Given the description of an element on the screen output the (x, y) to click on. 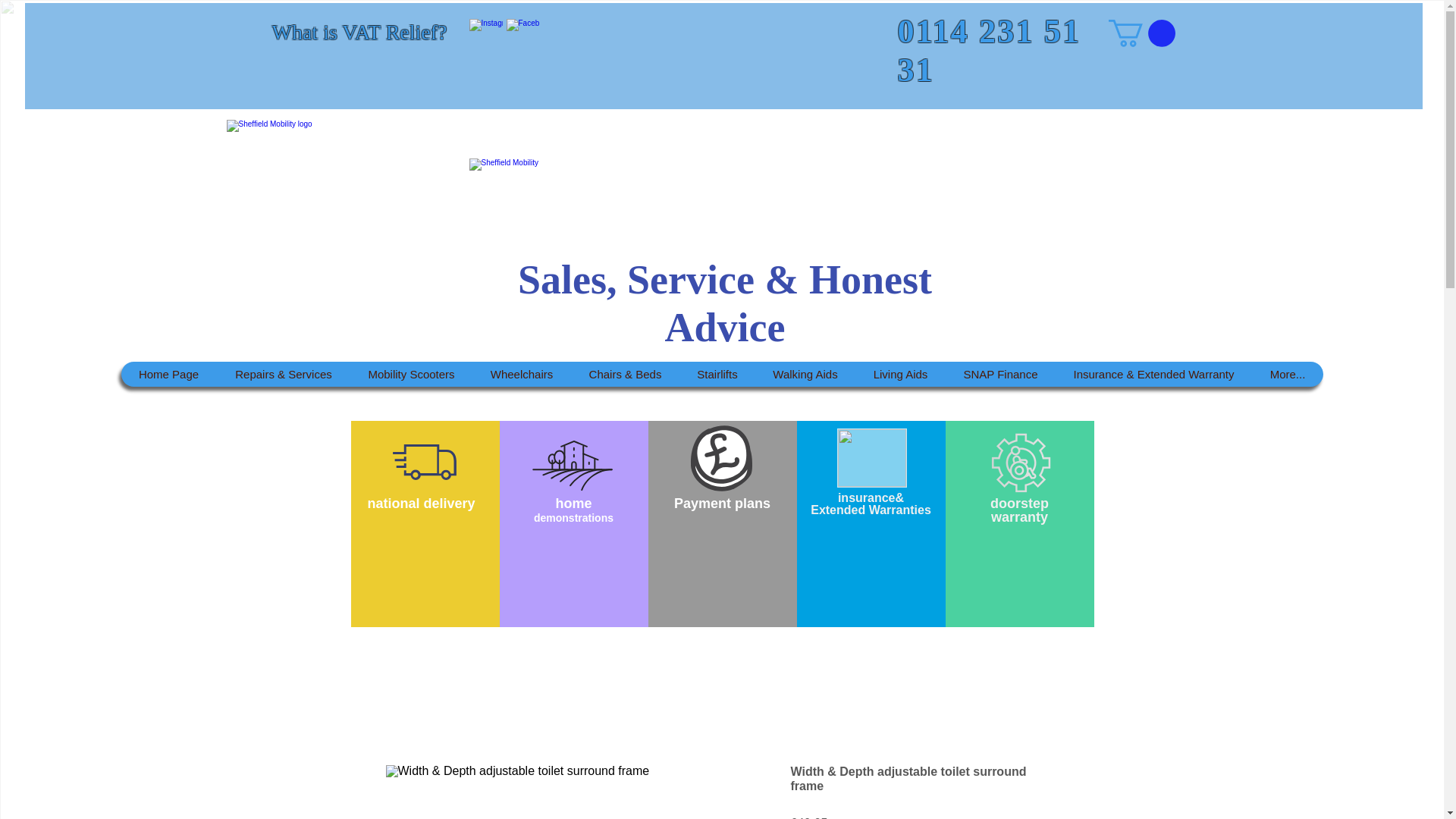
Mobility Scooters (410, 373)
Wheelchairs (520, 373)
Home Page (168, 373)
What is VAT Relief? (358, 32)
